Given the description of an element on the screen output the (x, y) to click on. 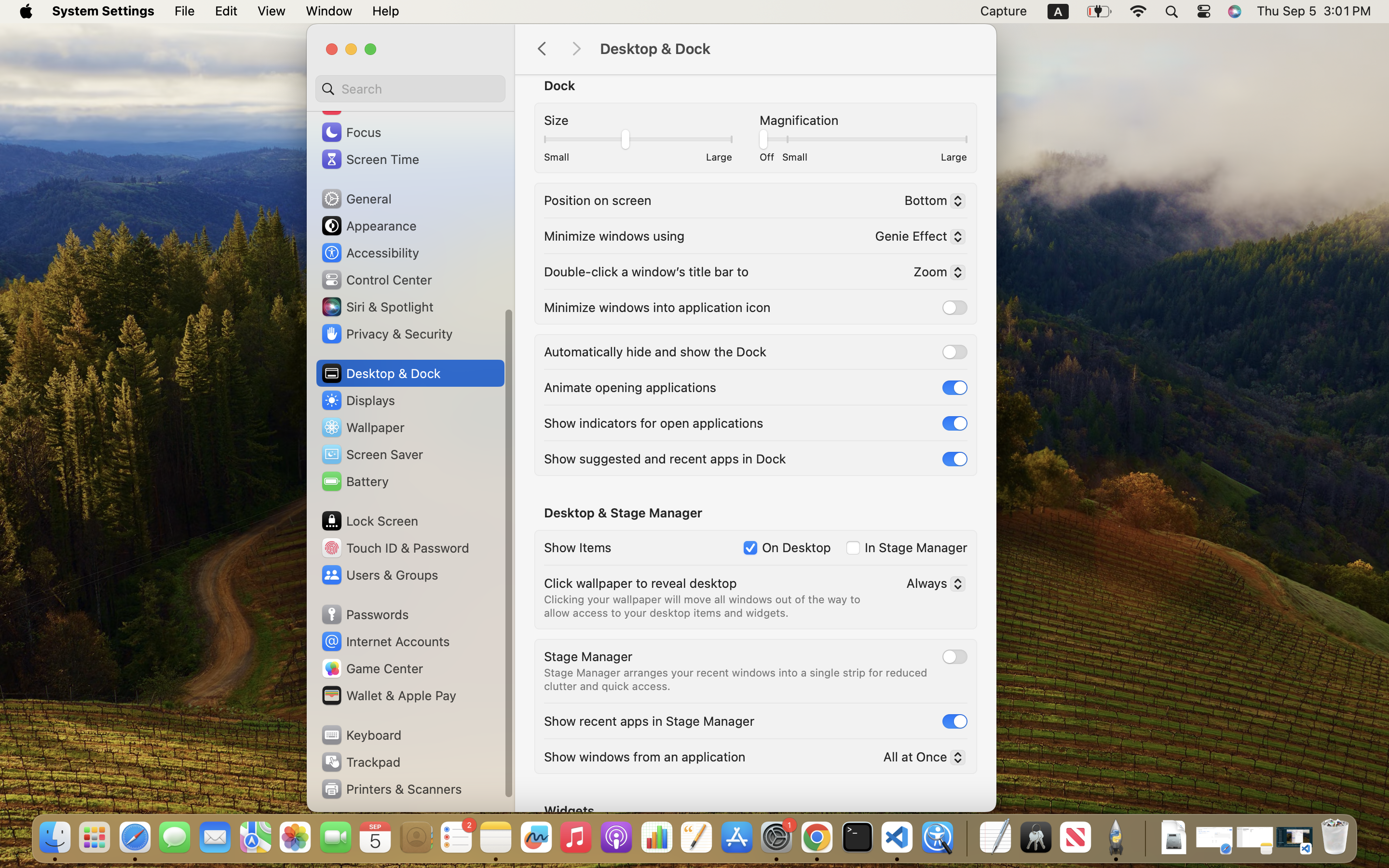
Screen Time Element type: AXStaticText (369, 158)
Accessibility Element type: AXStaticText (369, 252)
All at Once Element type: AXPopUpButton (920, 758)
Animate opening applications Element type: AXStaticText (630, 386)
Control Center Element type: AXStaticText (376, 279)
